Given the description of an element on the screen output the (x, y) to click on. 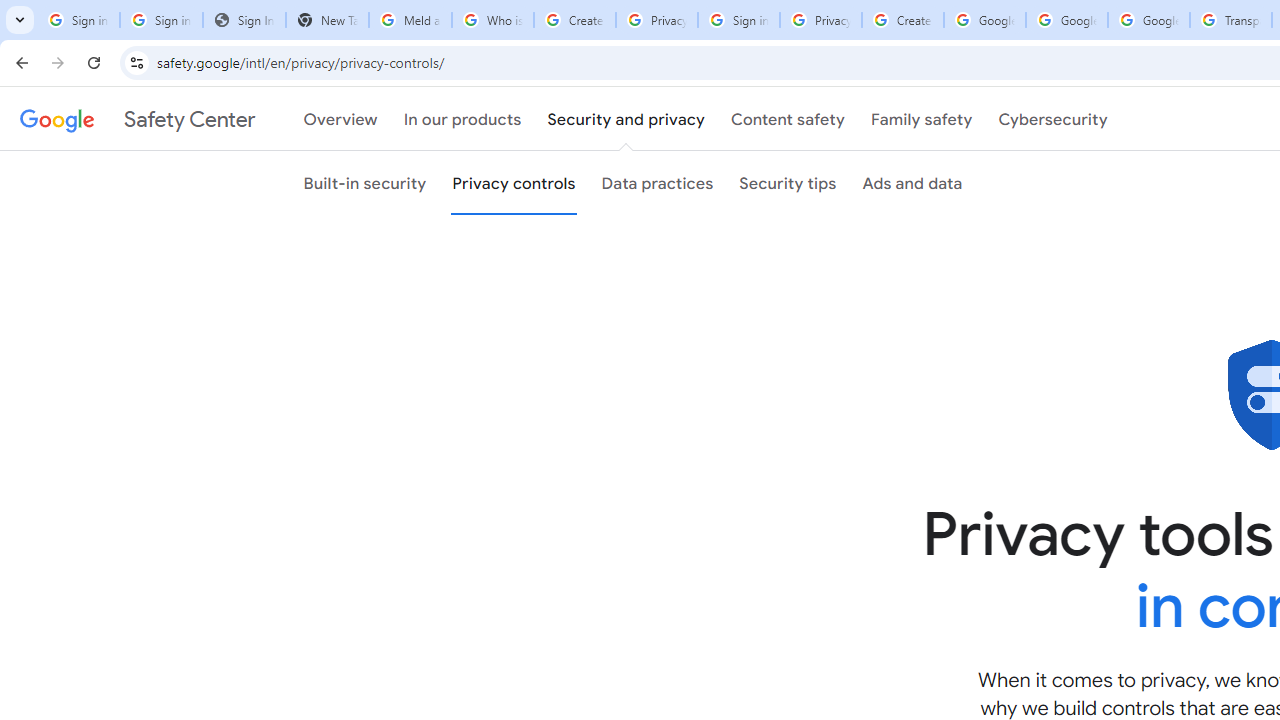
Sign in - Google Accounts (78, 20)
Sign In - USA TODAY (244, 20)
